Given the description of an element on the screen output the (x, y) to click on. 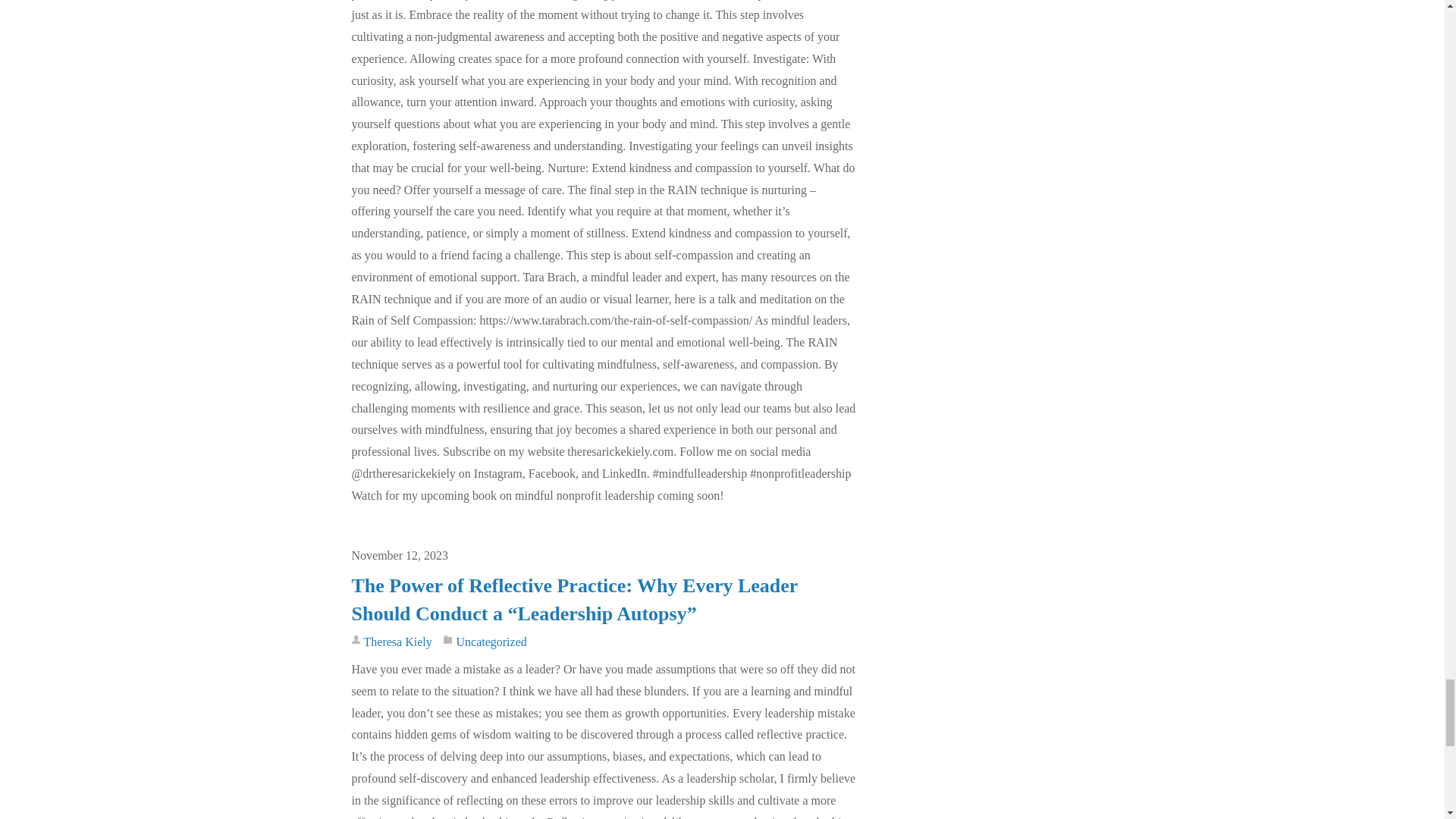
Theresa Kiely (398, 641)
Uncategorized (490, 641)
